Given the description of an element on the screen output the (x, y) to click on. 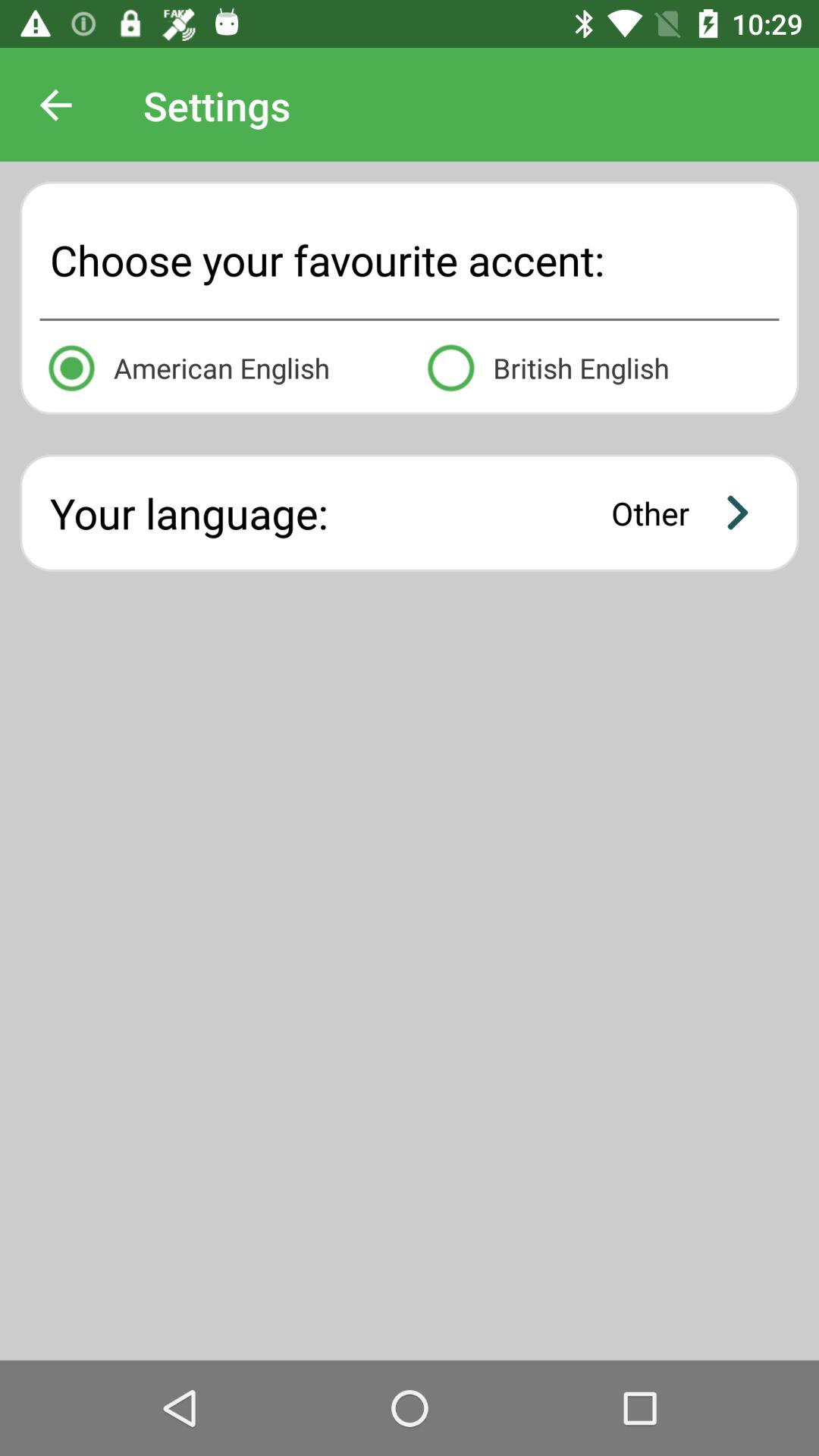
launch the icon next to the american english item (599, 365)
